Given the description of an element on the screen output the (x, y) to click on. 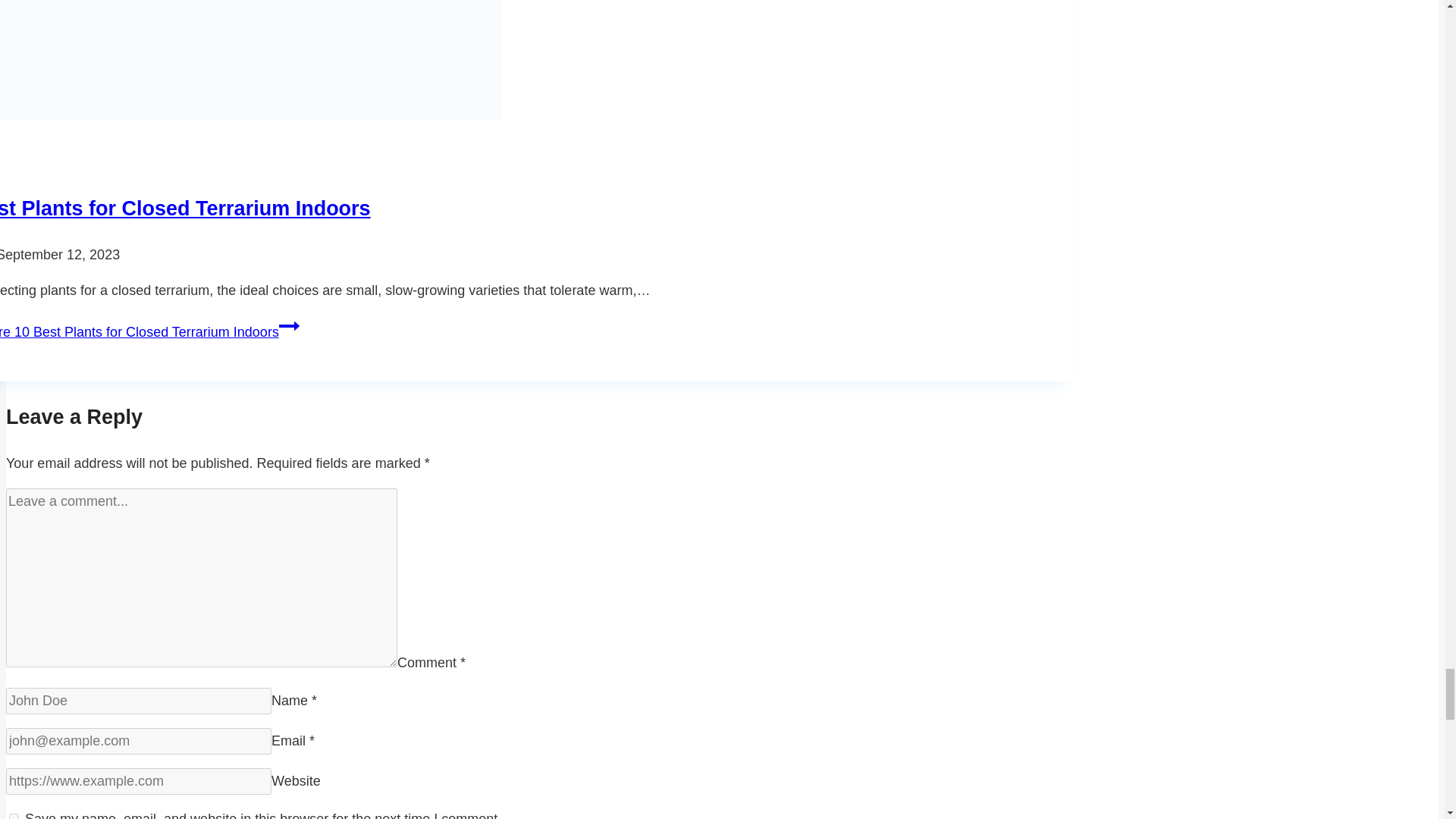
yes (13, 816)
Continue (289, 325)
